Given the description of an element on the screen output the (x, y) to click on. 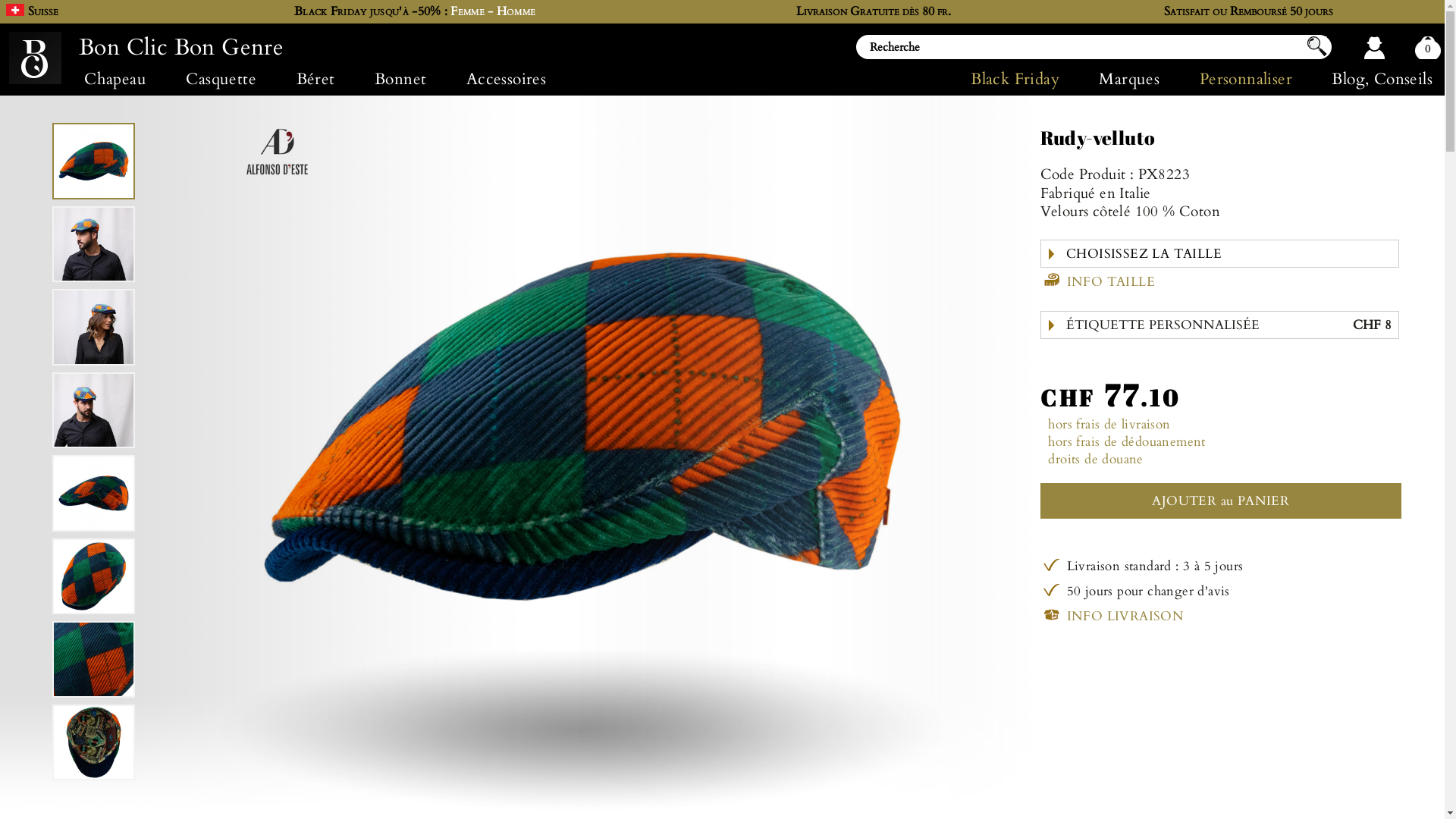
hors frais de livraison Element type: text (1109, 424)
Marques Element type: text (1129, 78)
Suisse Element type: text (43, 11)
INFO LIVRAISON Element type: text (1112, 614)
Blog, Conseils Element type: text (1371, 78)
Casquette Element type: text (221, 78)
AJOUTER au PANIER Element type: text (1220, 500)
Accessoires Element type: text (506, 78)
INFO TAILLE Element type: text (1097, 279)
droits de douane Element type: text (1095, 458)
Black Friday Element type: text (1024, 78)
Personnaliser Element type: text (1245, 78)
Bonnet Element type: text (400, 78)
Chapeau Element type: text (115, 78)
